Given the description of an element on the screen output the (x, y) to click on. 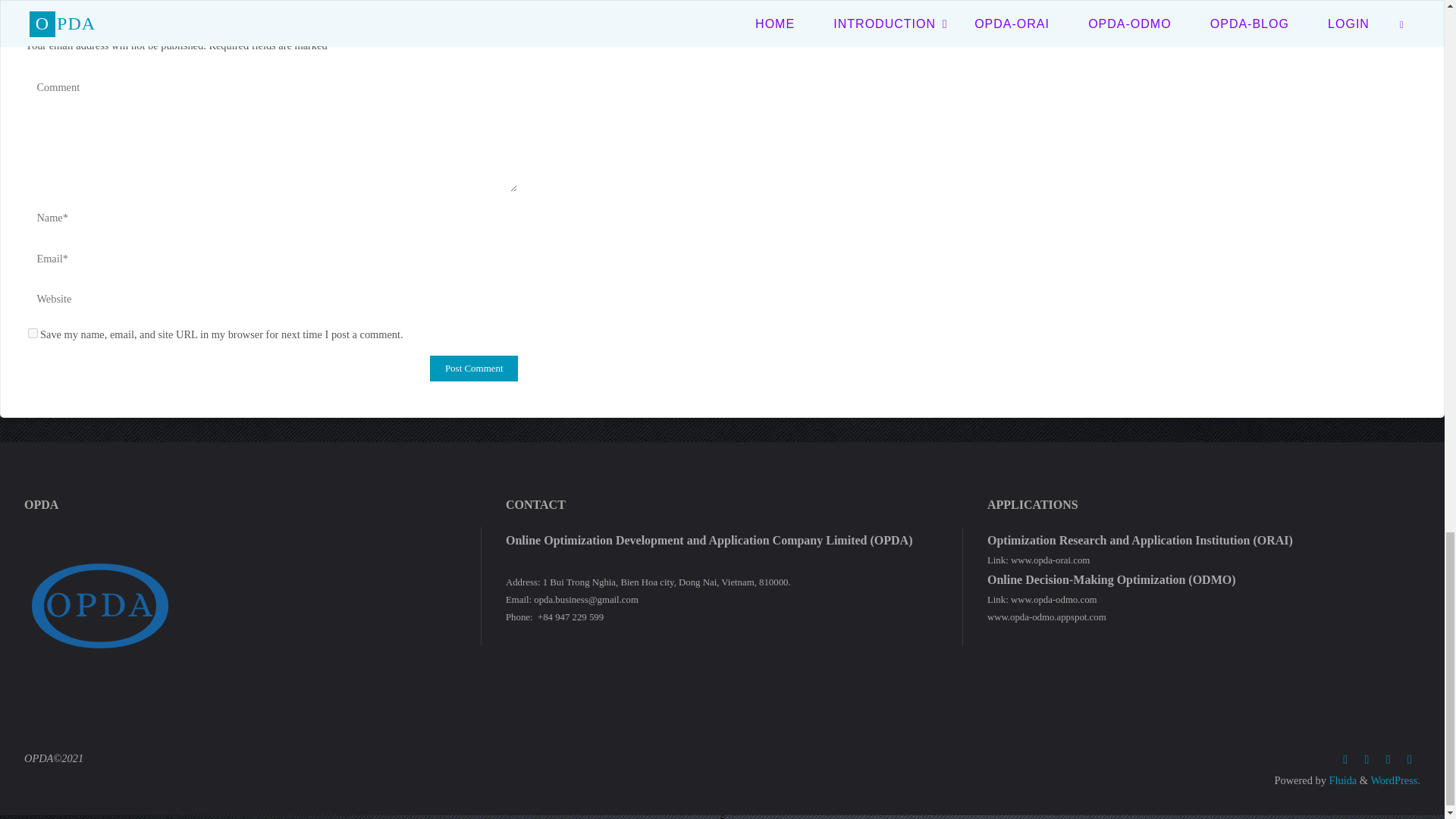
Fluida WordPress Theme by Cryout Creations (1341, 779)
Facebook (1345, 760)
Semantic Personal Publishing Platform (1395, 779)
Twitter (1366, 760)
Custom Social (1410, 760)
Google Plus (1388, 760)
Post Comment (473, 368)
yes (32, 333)
